Given the description of an element on the screen output the (x, y) to click on. 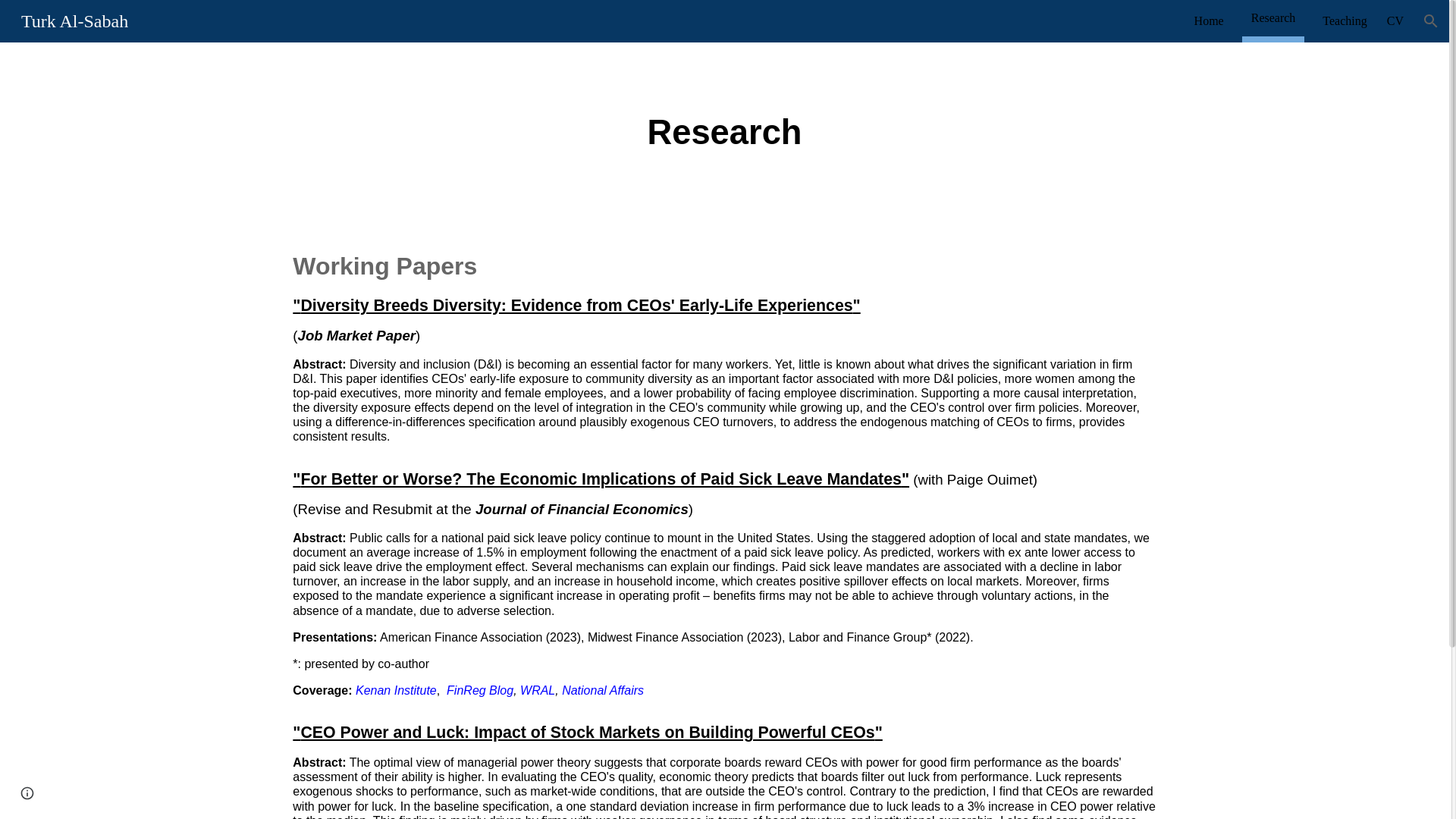
Turk Al-Sabah (73, 19)
Teaching (1344, 20)
Kenan Institute (395, 689)
Research (1272, 17)
National Affairs (602, 689)
FinReg Blog (479, 689)
WRAL (536, 689)
Home (1208, 20)
CV (1395, 20)
